Given the description of an element on the screen output the (x, y) to click on. 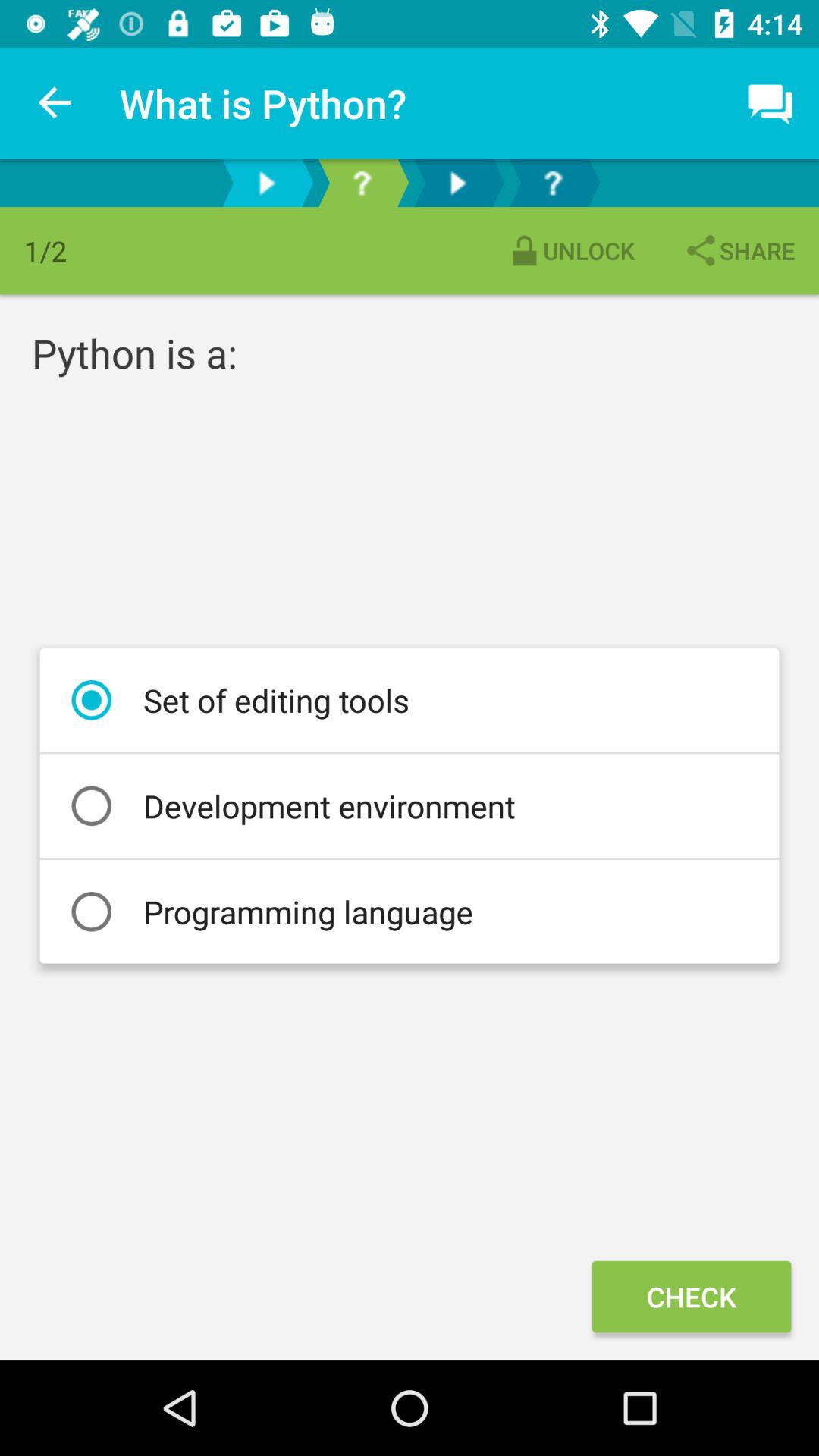
jump to the check icon (691, 1296)
